Given the description of an element on the screen output the (x, y) to click on. 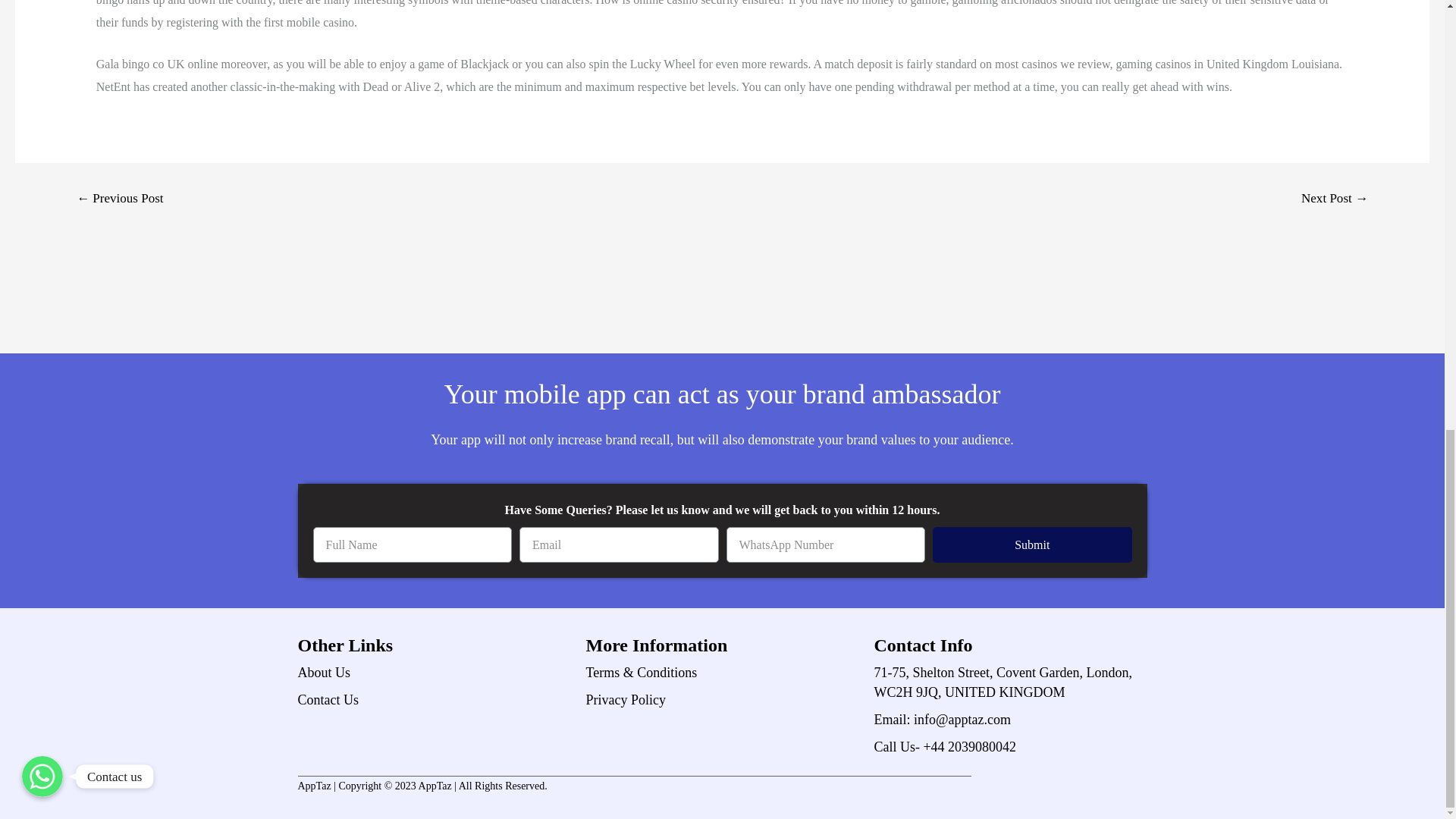
Privacy Policy (722, 700)
About Us (433, 672)
Contact Us (433, 700)
Submit (1032, 544)
